Given the description of an element on the screen output the (x, y) to click on. 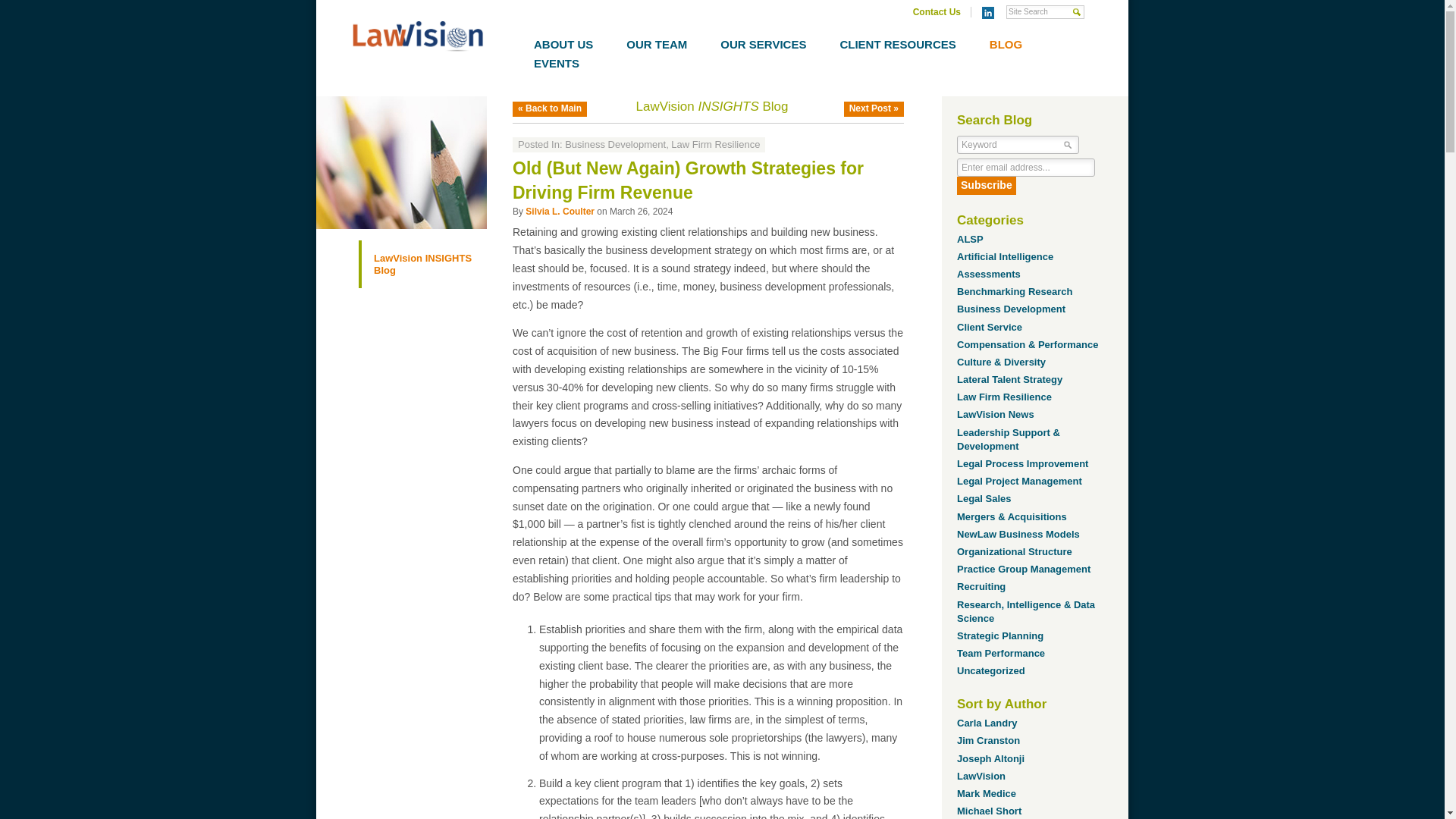
ABOUT US (563, 43)
Posts by LawVision (981, 776)
Posts by Joseph Altonji (990, 758)
Posts by Jim Cranston (988, 740)
Subscribe (986, 185)
LinkedIn (987, 12)
OUR SERVICES (762, 43)
LawVision (417, 37)
Posts by Michael Short (989, 810)
Posts by Mark Medice (986, 793)
Contact Us (936, 11)
Posts by Carla Landry (986, 722)
OUR TEAM (656, 43)
Enter email address... (1025, 167)
